Given the description of an element on the screen output the (x, y) to click on. 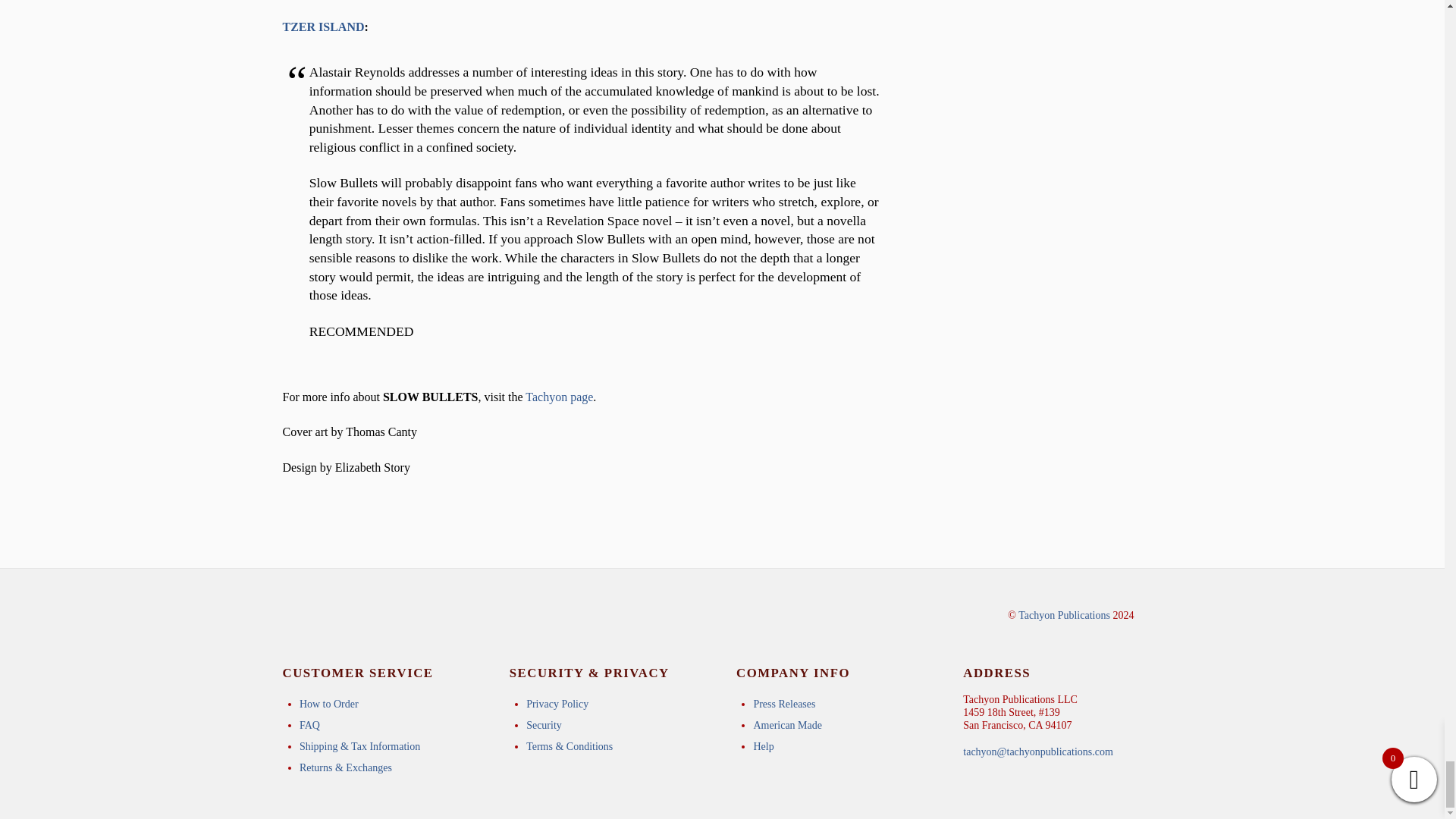
How to Order (328, 704)
Press Releases (783, 704)
Security (543, 725)
Help (762, 746)
Privacy Policy (556, 704)
American Made (787, 725)
Frequently Asked Questions (309, 725)
